Given the description of an element on the screen output the (x, y) to click on. 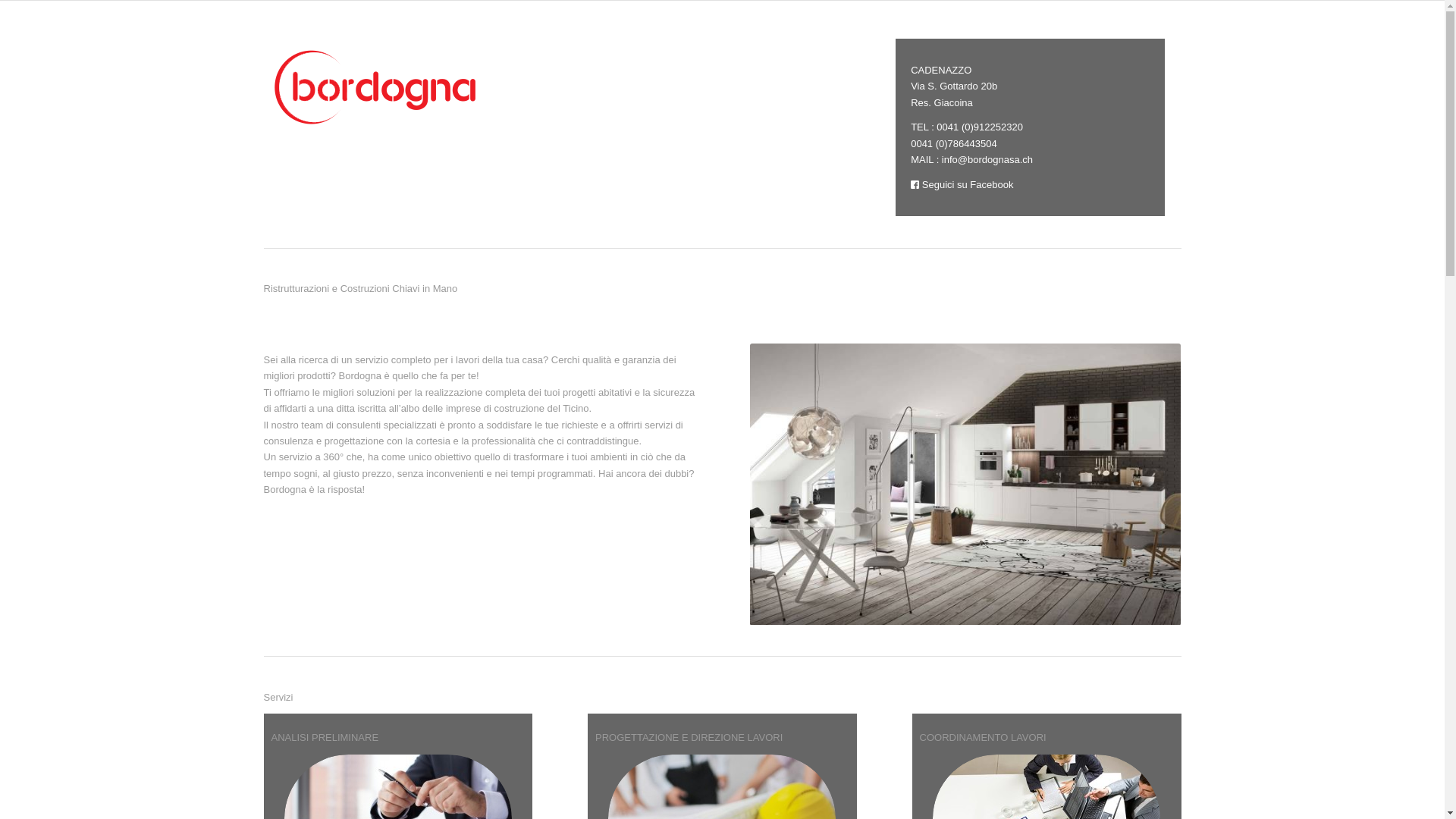
1s Element type: hover (965, 484)
logo_def Element type: hover (377, 86)
Seguici su Facebook Element type: text (961, 184)
